Given the description of an element on the screen output the (x, y) to click on. 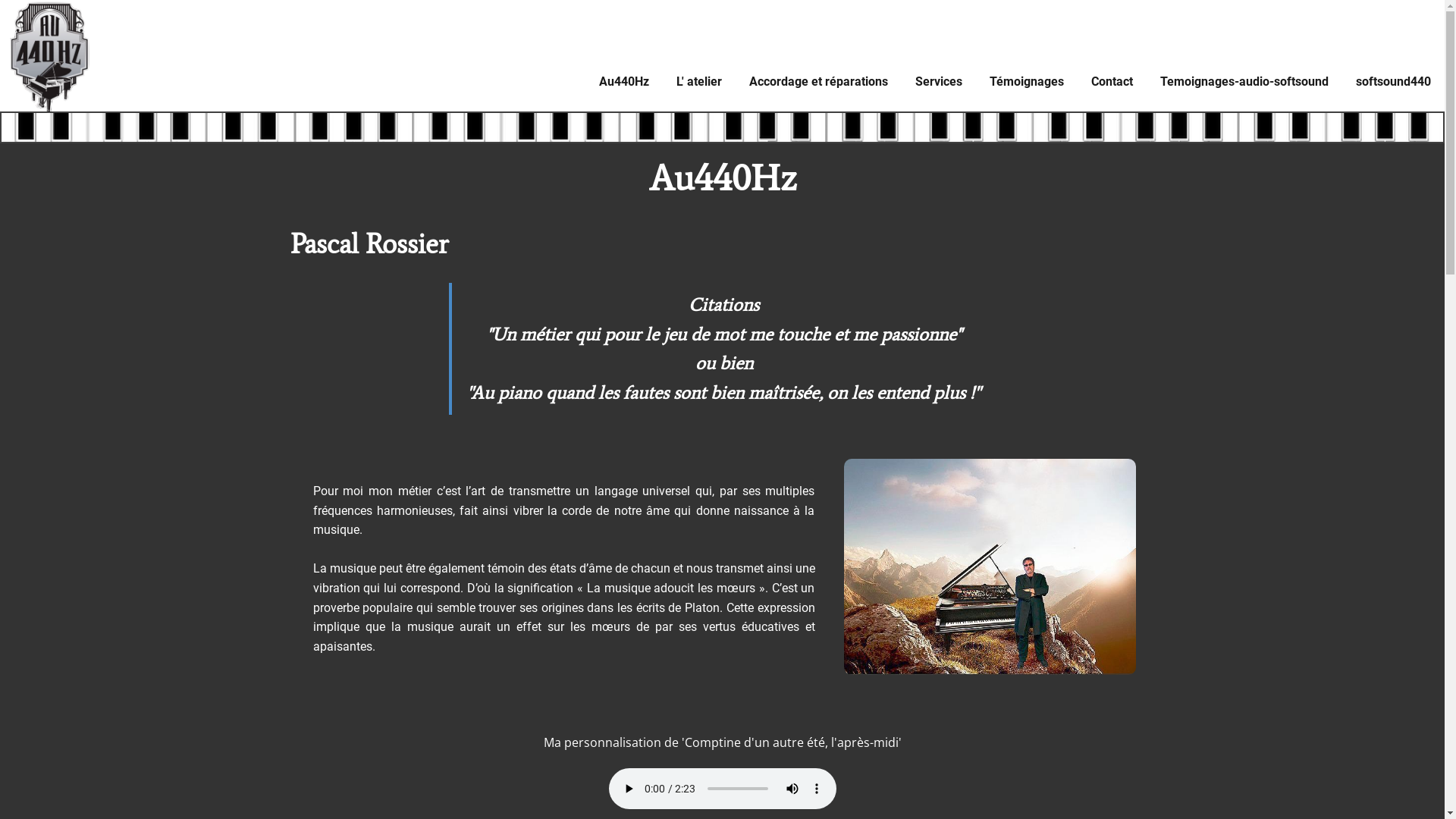
softsound440 Element type: text (1393, 81)
Services Element type: text (938, 81)
Temoignages-audio-softsound Element type: text (1244, 81)
L' atelier Element type: text (698, 81)
Contact Element type: text (1111, 81)
Au440Hz Element type: text (623, 81)
